Given the description of an element on the screen output the (x, y) to click on. 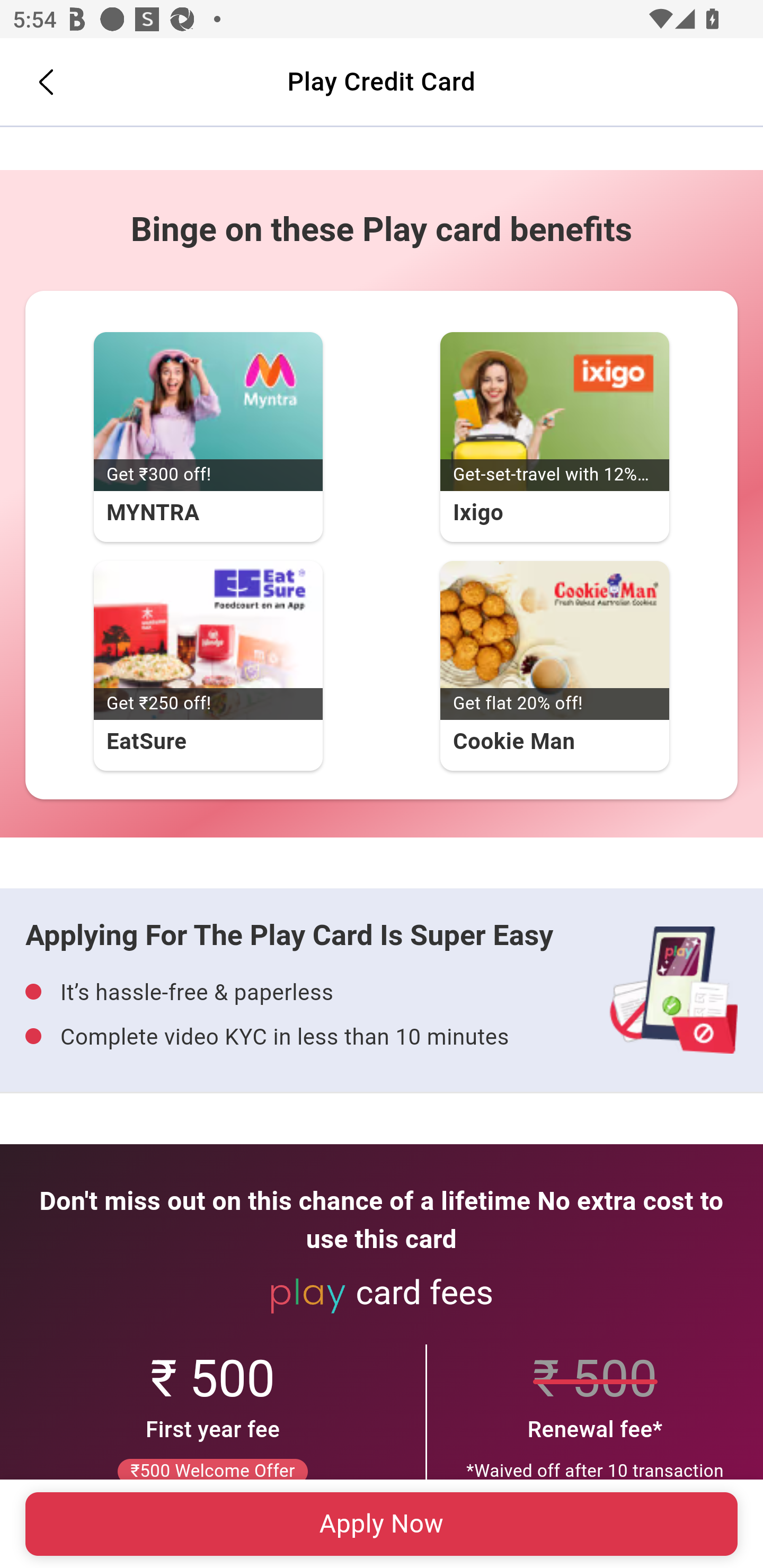
MYNTRA (207, 412)
Ixigo (554, 412)
EatSure (207, 641)
Cookie Man (554, 641)
